Given the description of an element on the screen output the (x, y) to click on. 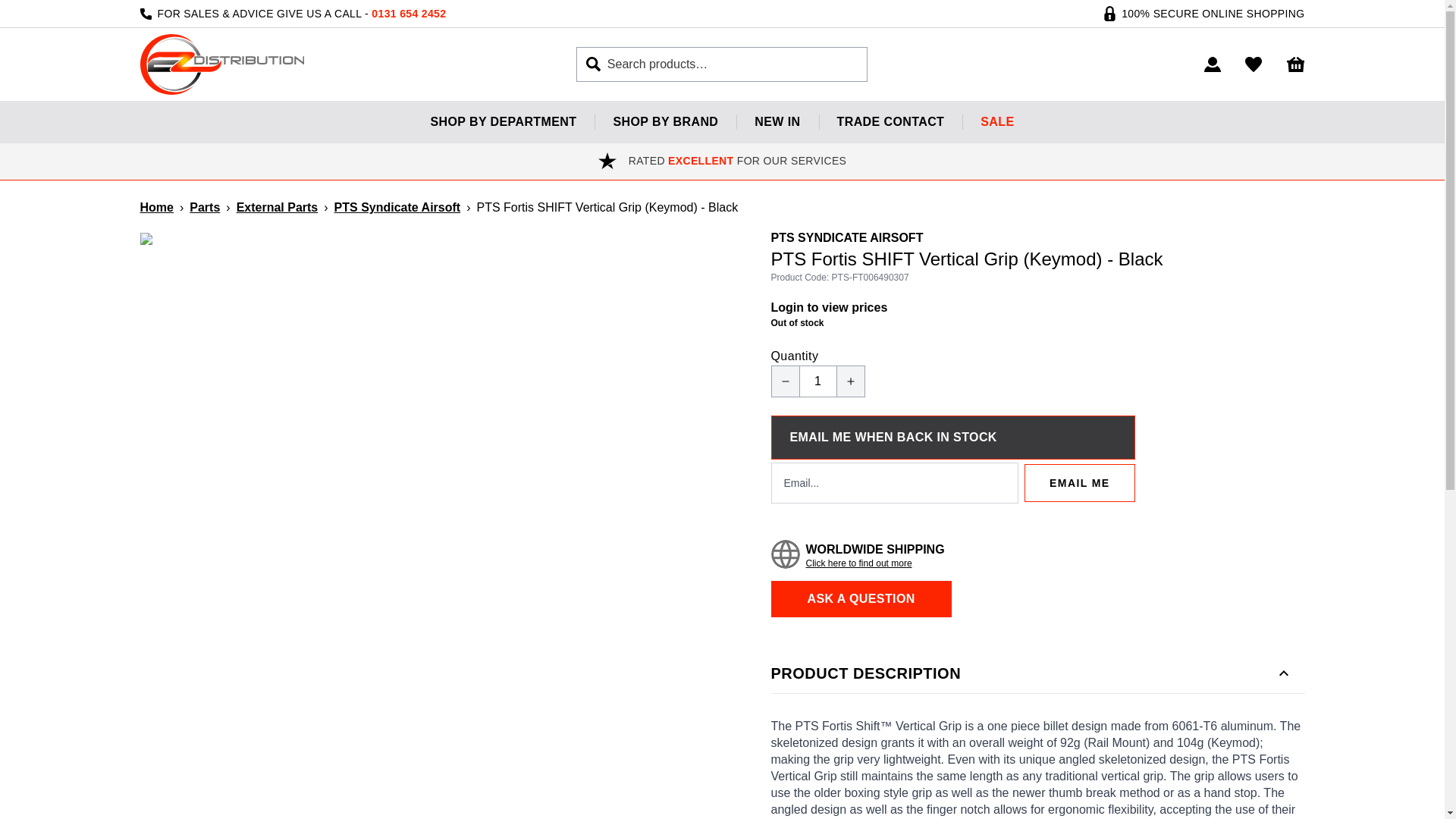
1 (817, 381)
SHOP BY DEPARTMENT (503, 121)
SHOP BY BRAND (665, 121)
